Given the description of an element on the screen output the (x, y) to click on. 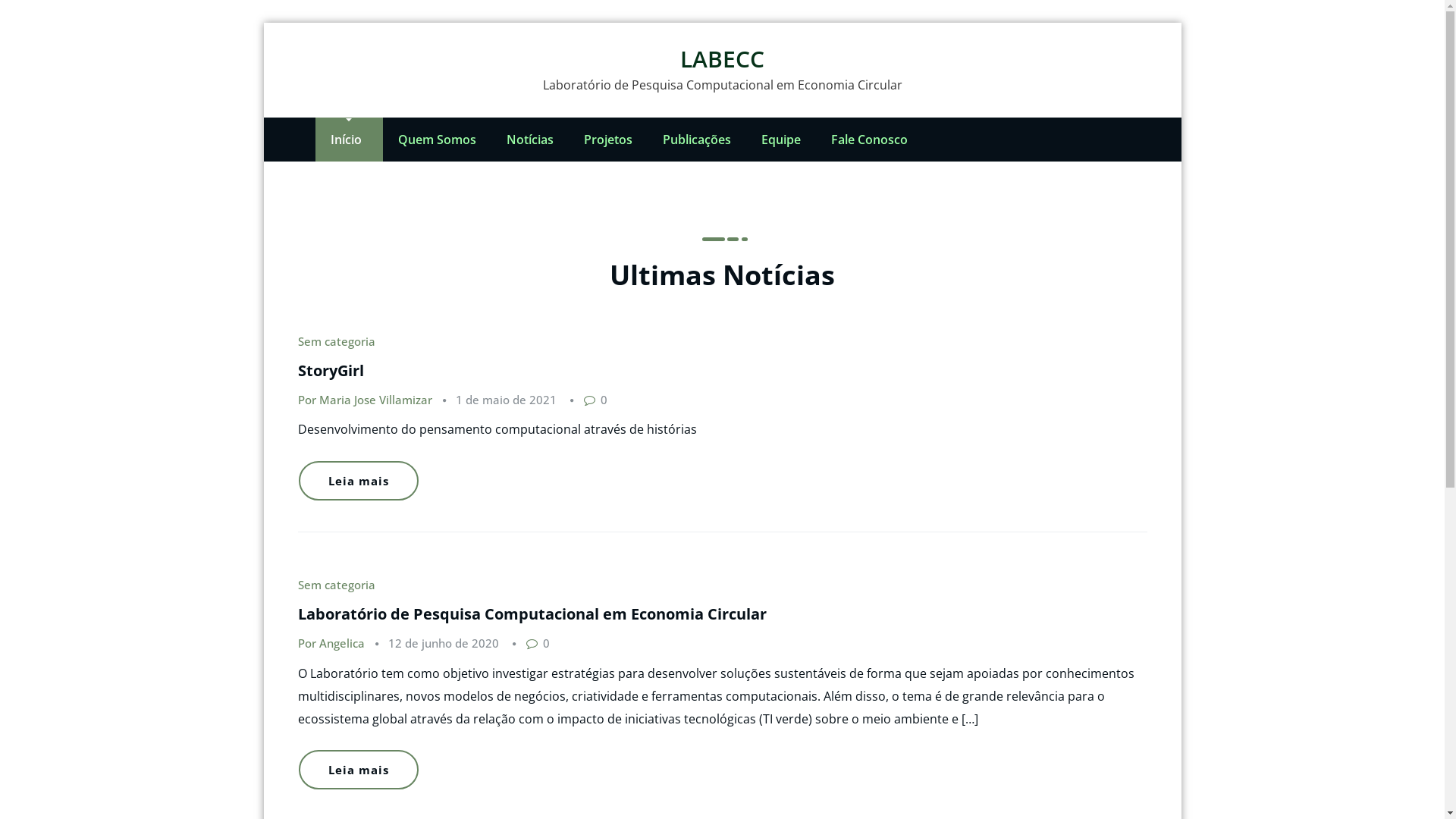
0 Element type: text (594, 399)
Por Maria Jose Villamizar Element type: text (364, 399)
Por Angelica Element type: text (330, 642)
Leia mais Element type: text (358, 769)
Sem categoria Element type: text (335, 340)
Quem Somos Element type: text (436, 139)
Projetos Element type: text (607, 139)
1 de maio de 2021 Element type: text (505, 399)
Sem categoria Element type: text (335, 584)
StoryGirl Element type: text (330, 370)
12 de junho de 2020 Element type: text (443, 642)
LABECC Element type: text (722, 58)
Equipe Element type: text (780, 139)
Leia mais Element type: text (358, 480)
Fale Conosco Element type: text (868, 139)
0 Element type: text (536, 642)
